Given the description of an element on the screen output the (x, y) to click on. 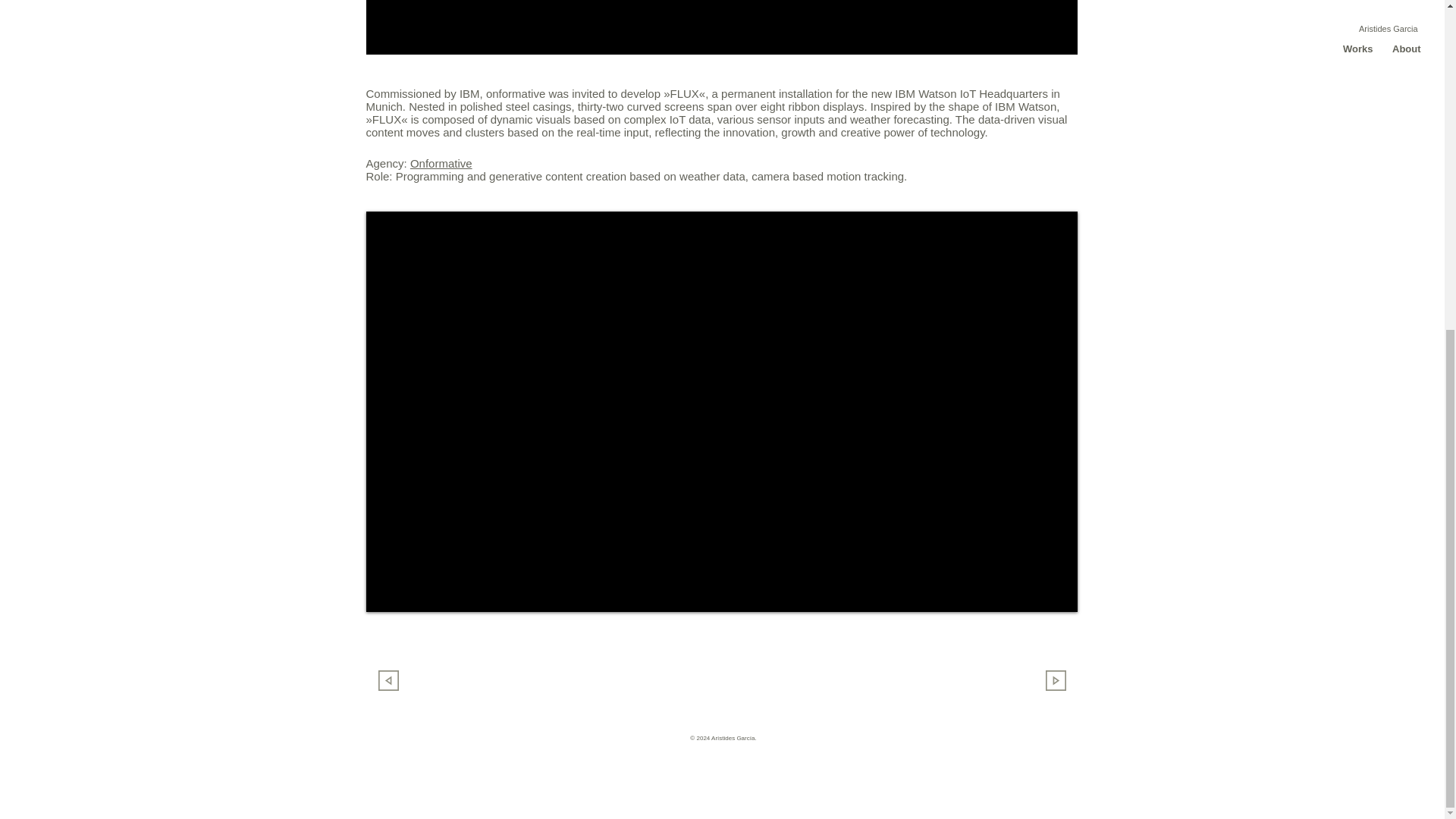
Onformative (440, 163)
